Given the description of an element on the screen output the (x, y) to click on. 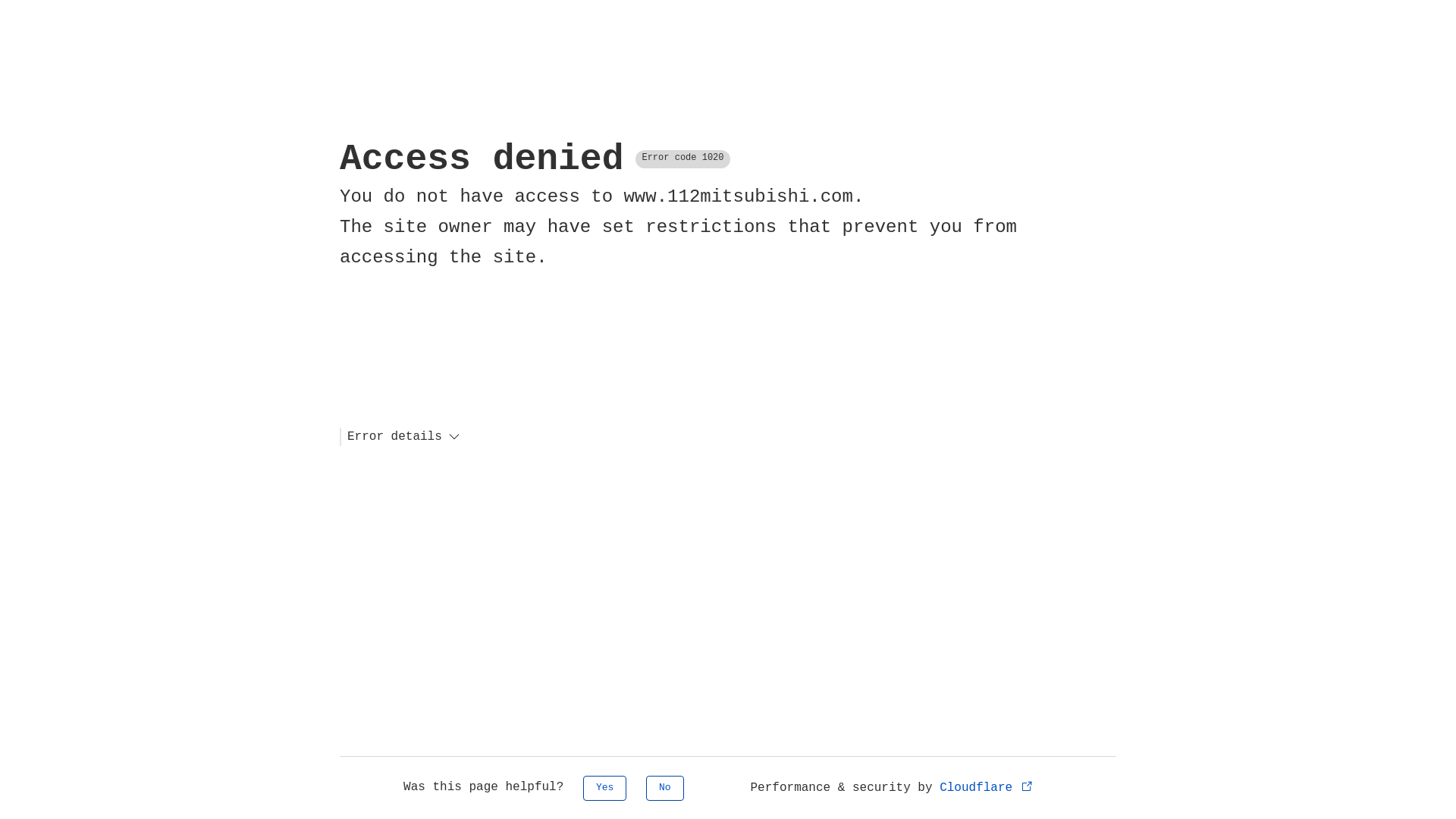
Yes Element type: text (604, 787)
Opens in new tab Element type: hover (1027, 785)
No Element type: text (665, 787)
Cloudflare Element type: text (986, 787)
